Given the description of an element on the screen output the (x, y) to click on. 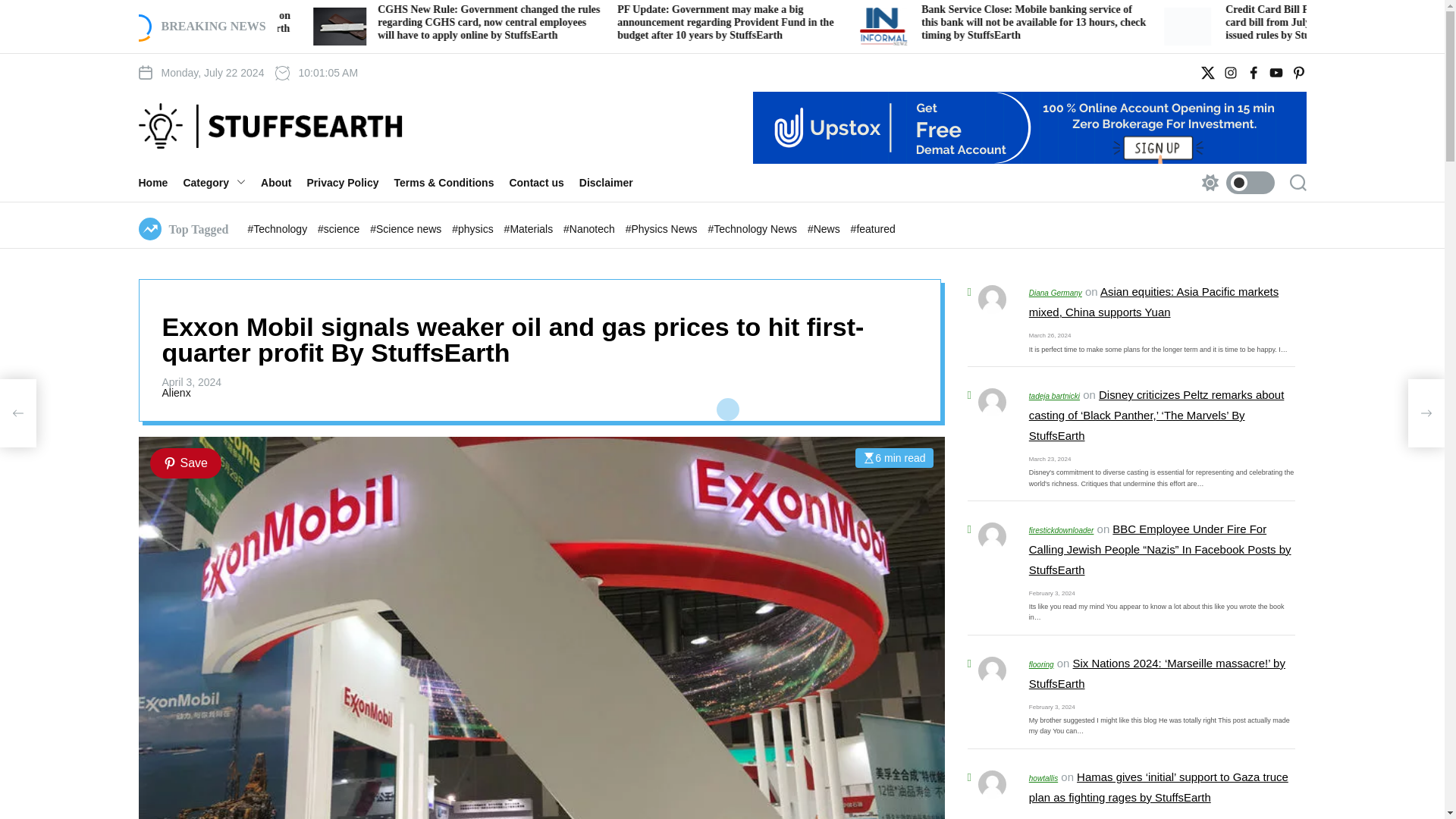
Twitter (1206, 72)
Instagram (1230, 72)
Facebook (1252, 72)
Youtube (1275, 72)
Pinterest (1298, 72)
